Given the description of an element on the screen output the (x, y) to click on. 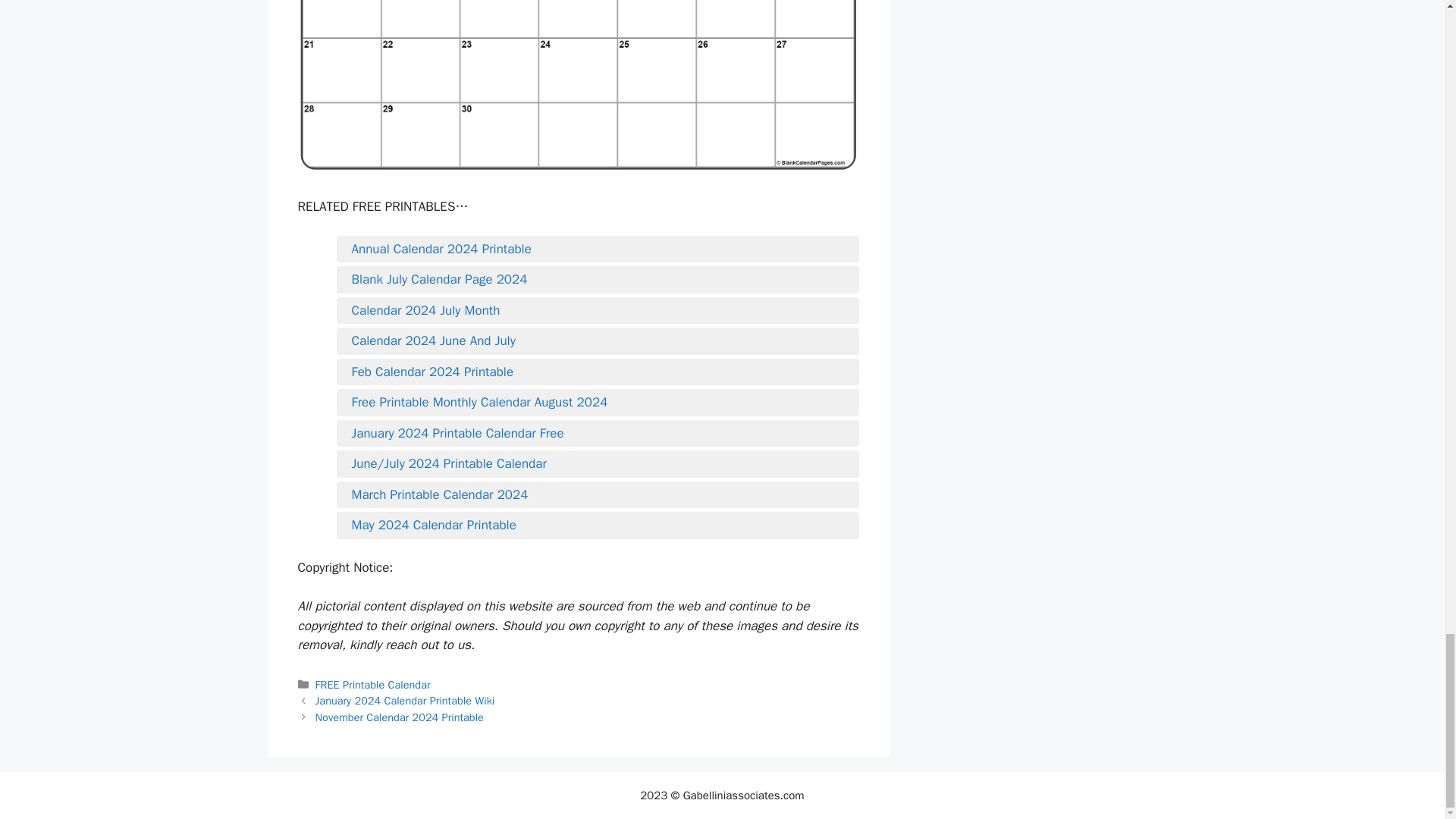
Calendar 2024 June And July (597, 341)
January 2024 Printable Calendar Free (597, 433)
January 2024 Calendar Printable Wiki (405, 700)
Annual Calendar 2024 Printable (597, 249)
Blank July Calendar Page 2024 (597, 279)
Calendar 2024 July Month (597, 310)
May 2024 Calendar Printable (597, 525)
March Printable Calendar 2024 (597, 495)
Free Printable Monthly Calendar August 2024 (597, 402)
November Calendar 2024 Printable (399, 716)
